Given the description of an element on the screen output the (x, y) to click on. 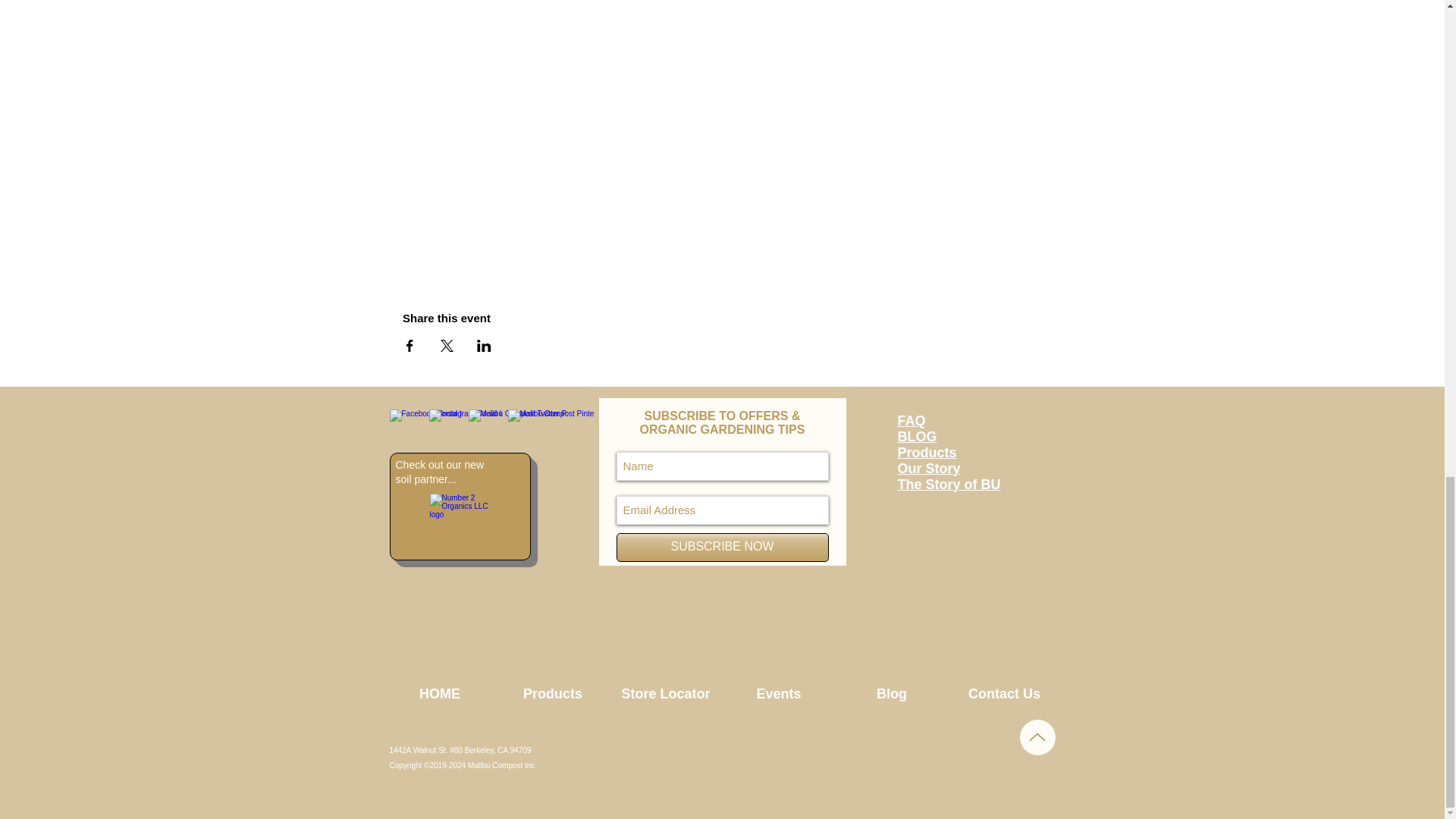
The Story of BU (949, 484)
Our Story (929, 468)
FAQ (912, 420)
Blog (892, 693)
Products (927, 452)
HOME (440, 693)
Events (778, 693)
BLOG (917, 436)
Contact Us (1003, 693)
Store Locator (666, 693)
